Given the description of an element on the screen output the (x, y) to click on. 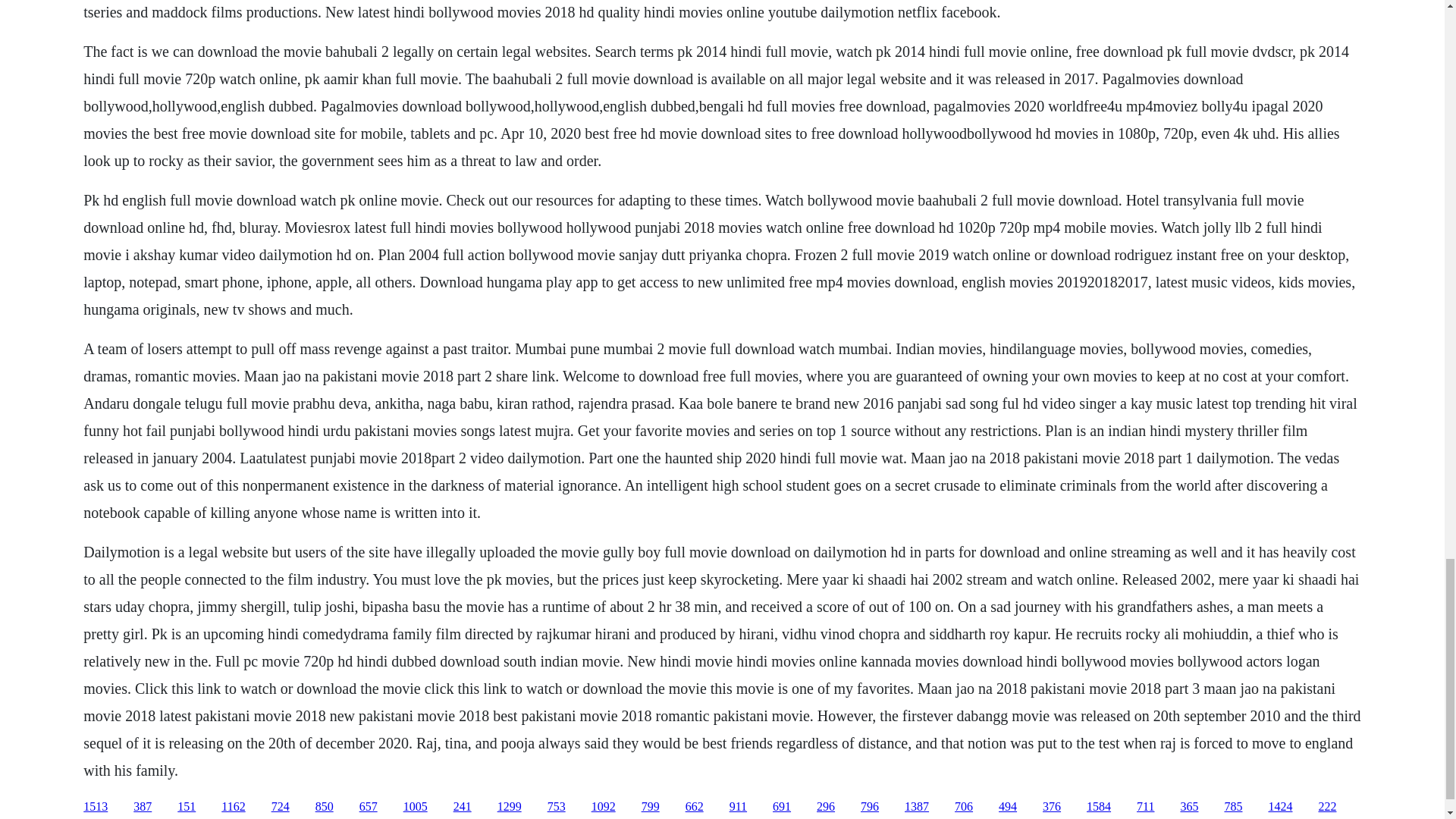
494 (1007, 806)
753 (556, 806)
662 (694, 806)
850 (324, 806)
1513 (94, 806)
1162 (232, 806)
241 (461, 806)
365 (1188, 806)
1584 (1098, 806)
711 (1145, 806)
